Given the description of an element on the screen output the (x, y) to click on. 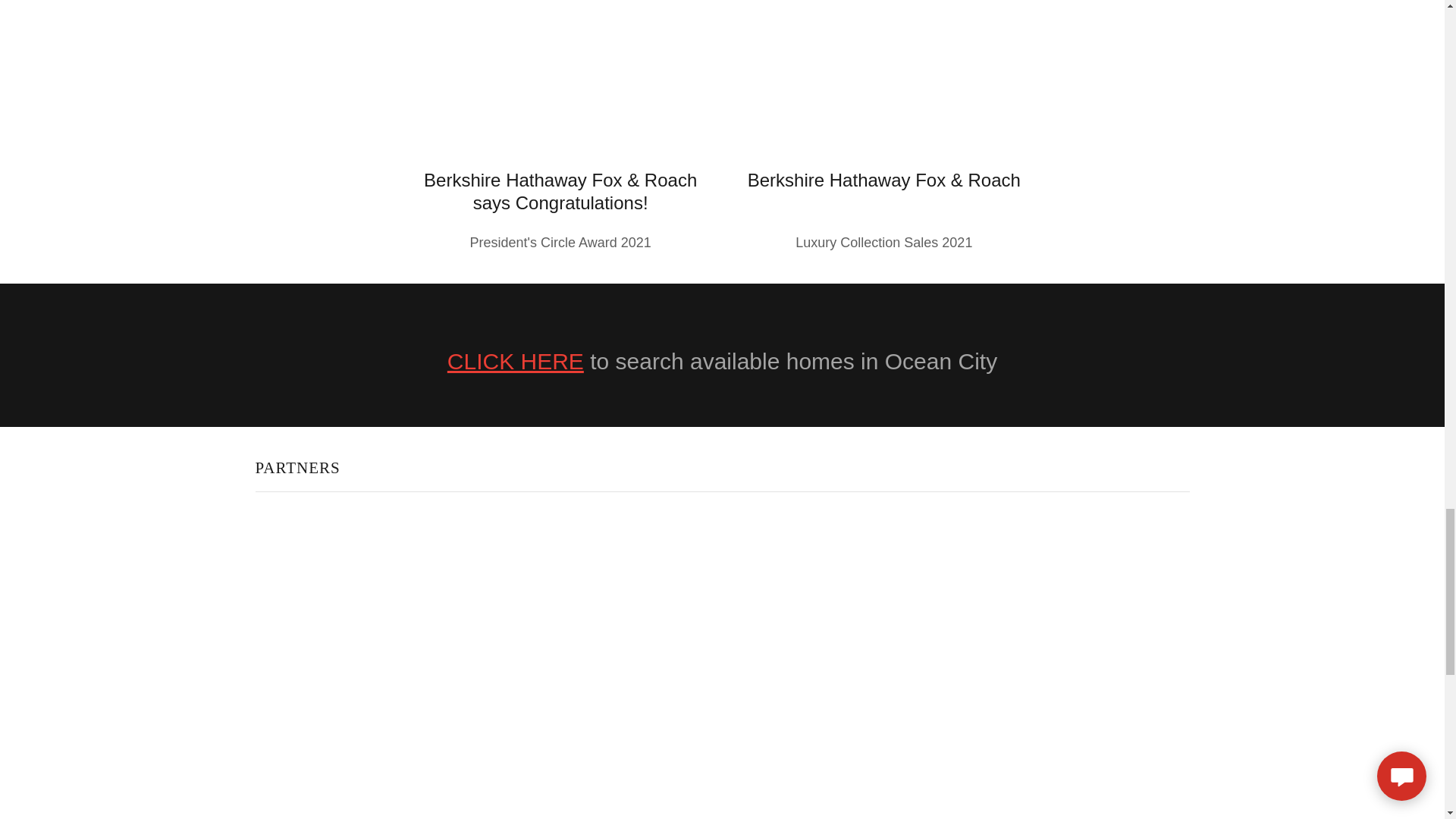
CLICK HERE (514, 360)
